Given the description of an element on the screen output the (x, y) to click on. 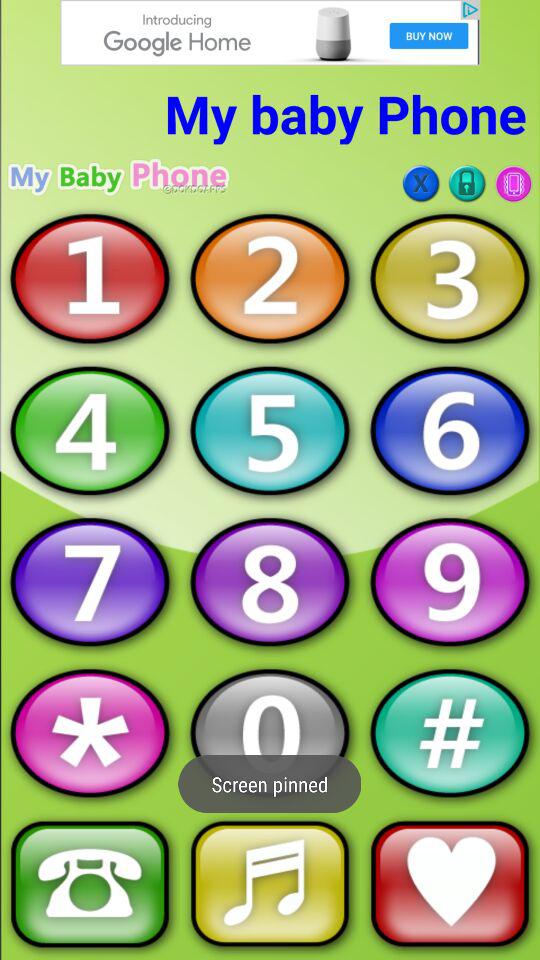
vibrate mode (513, 183)
